Given the description of an element on the screen output the (x, y) to click on. 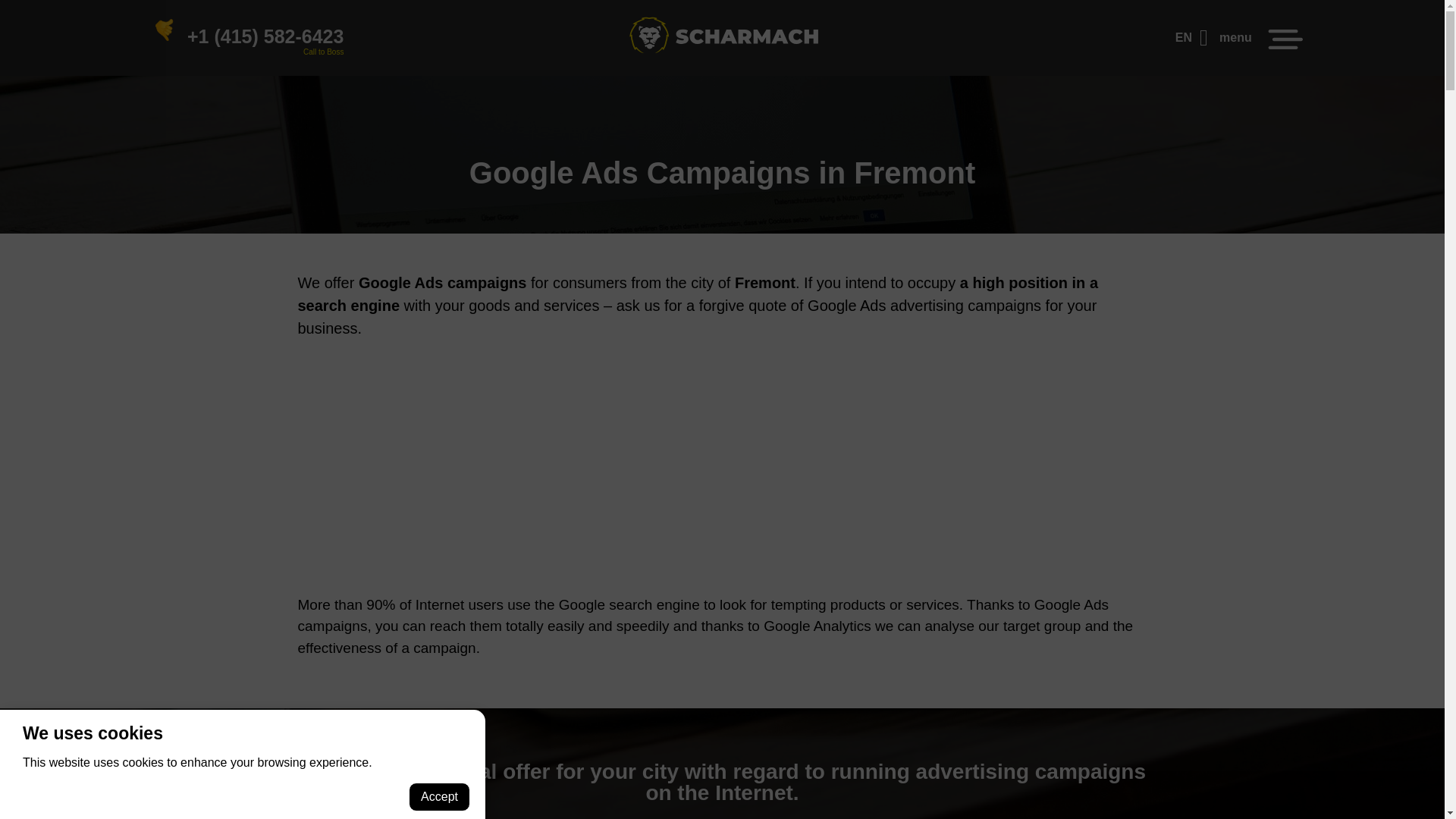
EN (1191, 37)
